Given the description of an element on the screen output the (x, y) to click on. 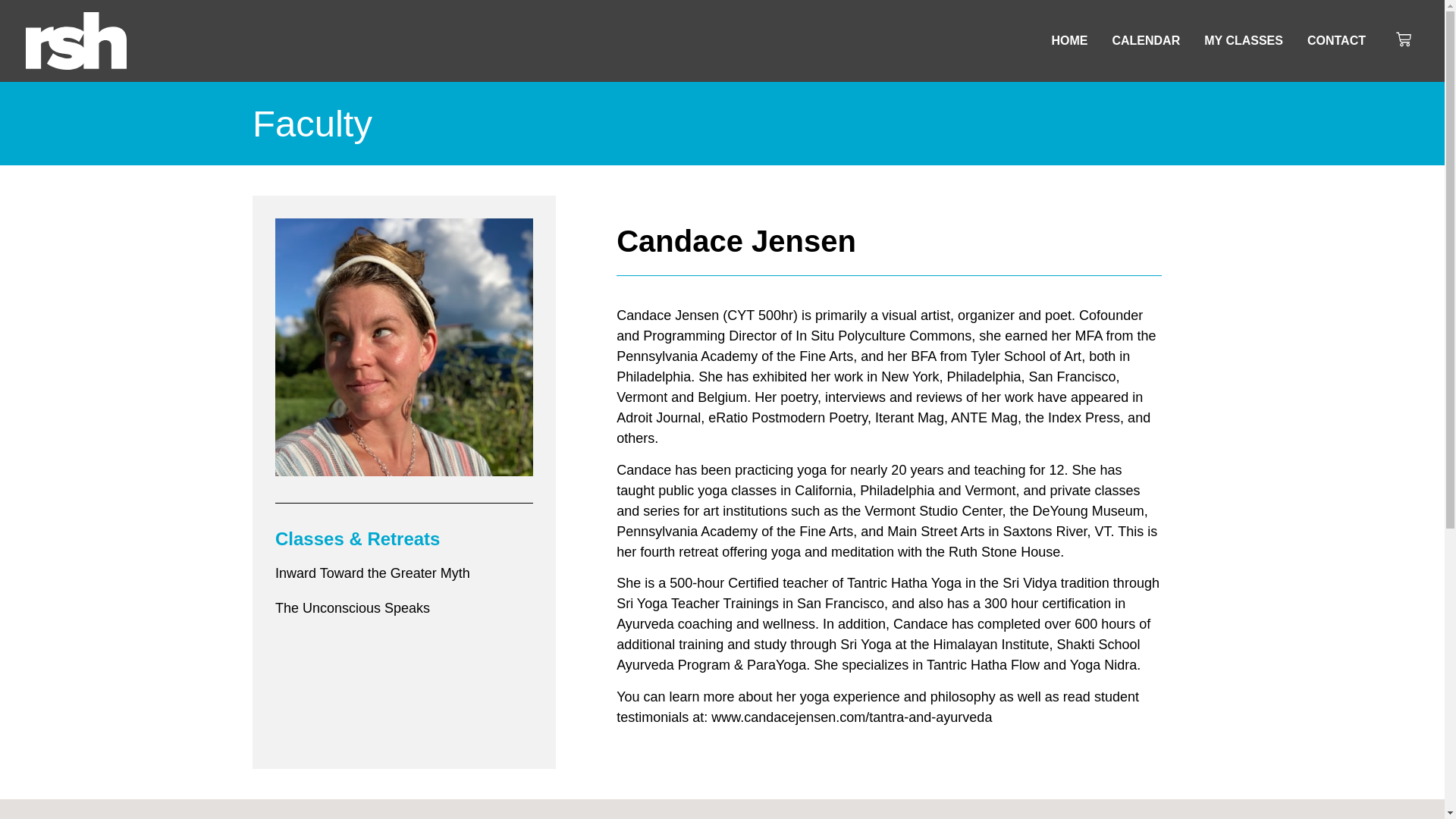
CALENDAR (1145, 40)
HOME (1069, 40)
MY CLASSES (1243, 40)
CONTACT (1336, 40)
Inward Toward the Greater Myth (372, 572)
The Unconscious Speaks (352, 607)
